Given the description of an element on the screen output the (x, y) to click on. 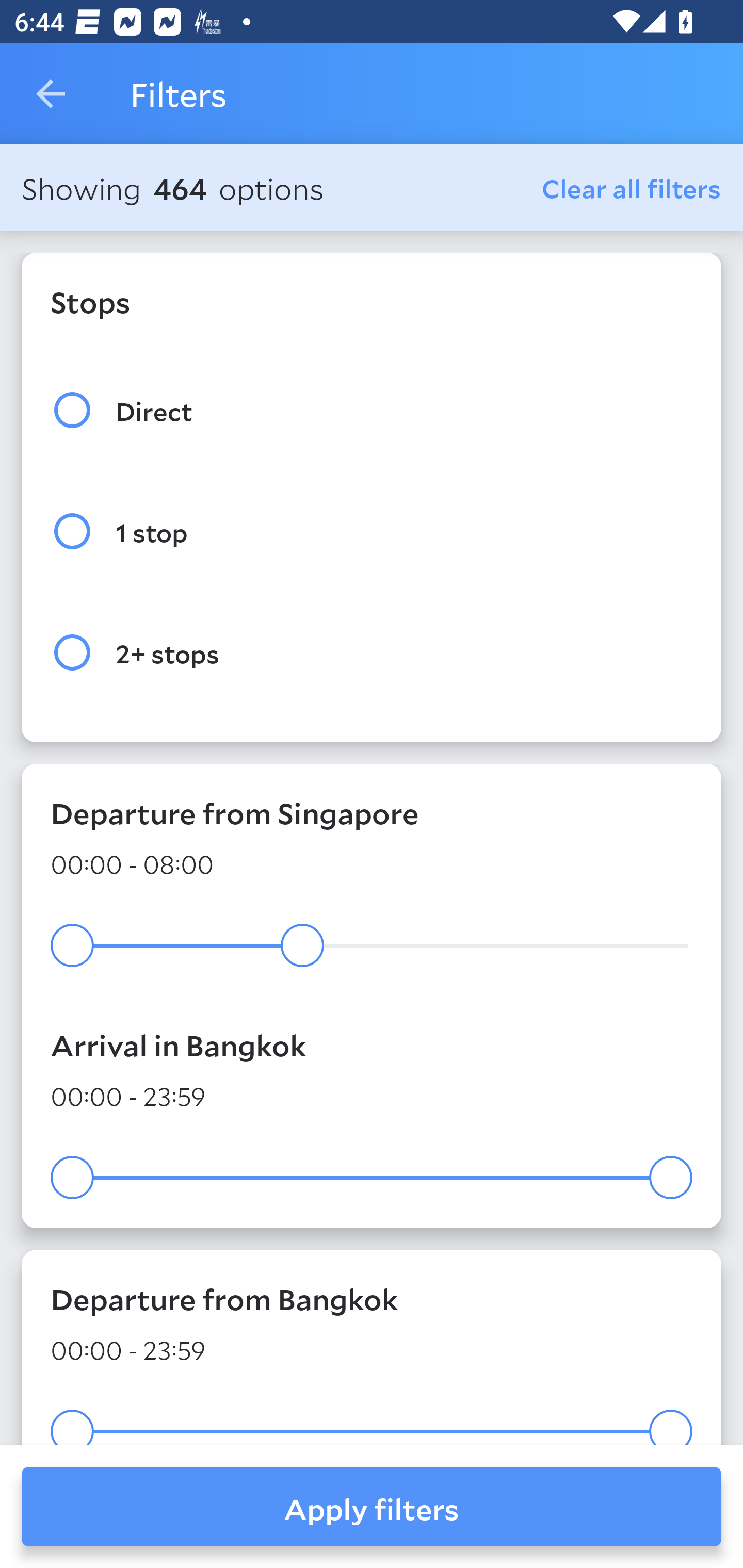
Navigate up (50, 93)
Clear all filters (631, 187)
Direct (371, 409)
1 stop (371, 531)
2+ stops (371, 652)
Apply filters (371, 1506)
